Given the description of an element on the screen output the (x, y) to click on. 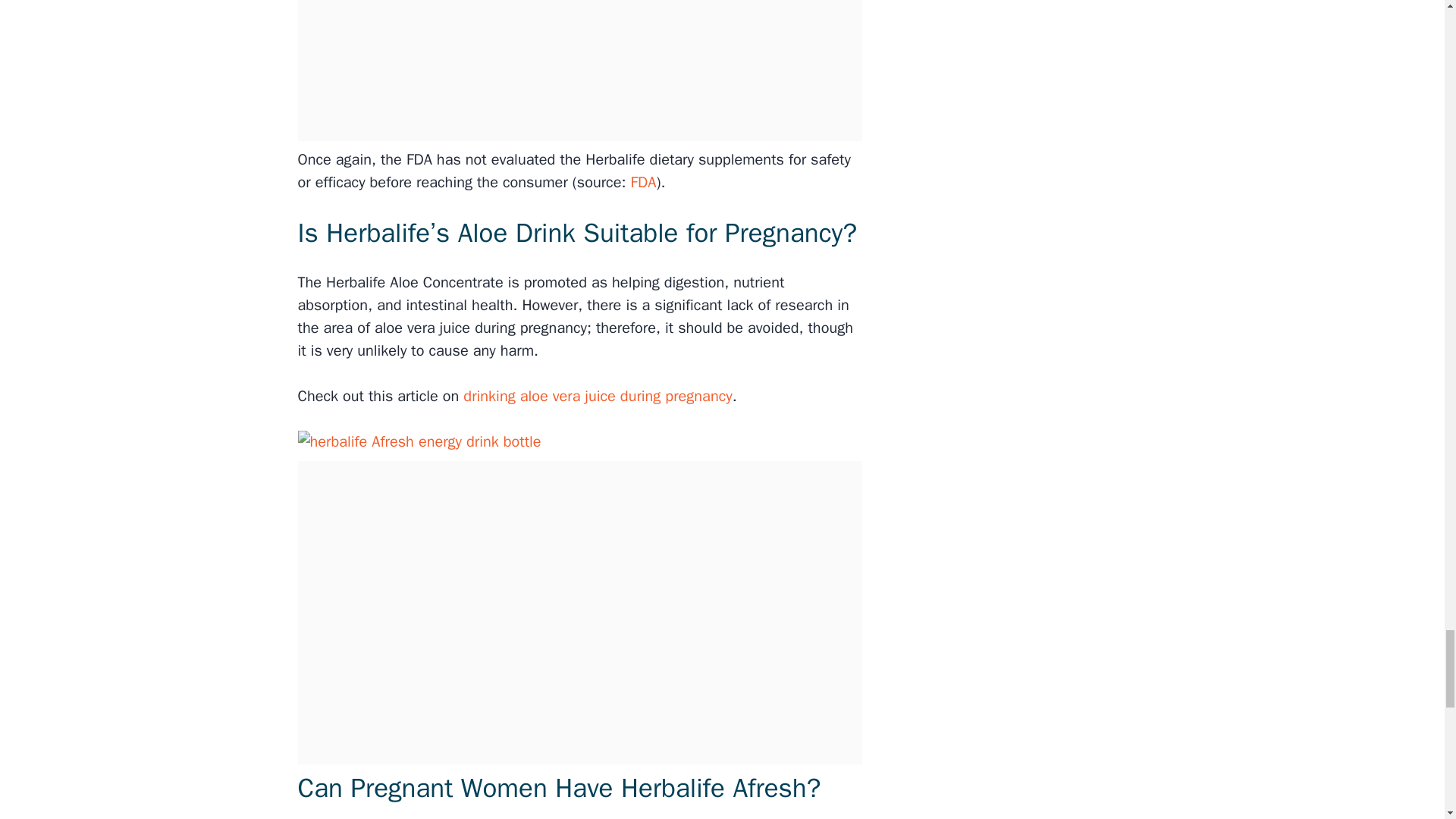
drinking aloe vera juice during pregnancy (595, 395)
FDA (641, 181)
